Given the description of an element on the screen output the (x, y) to click on. 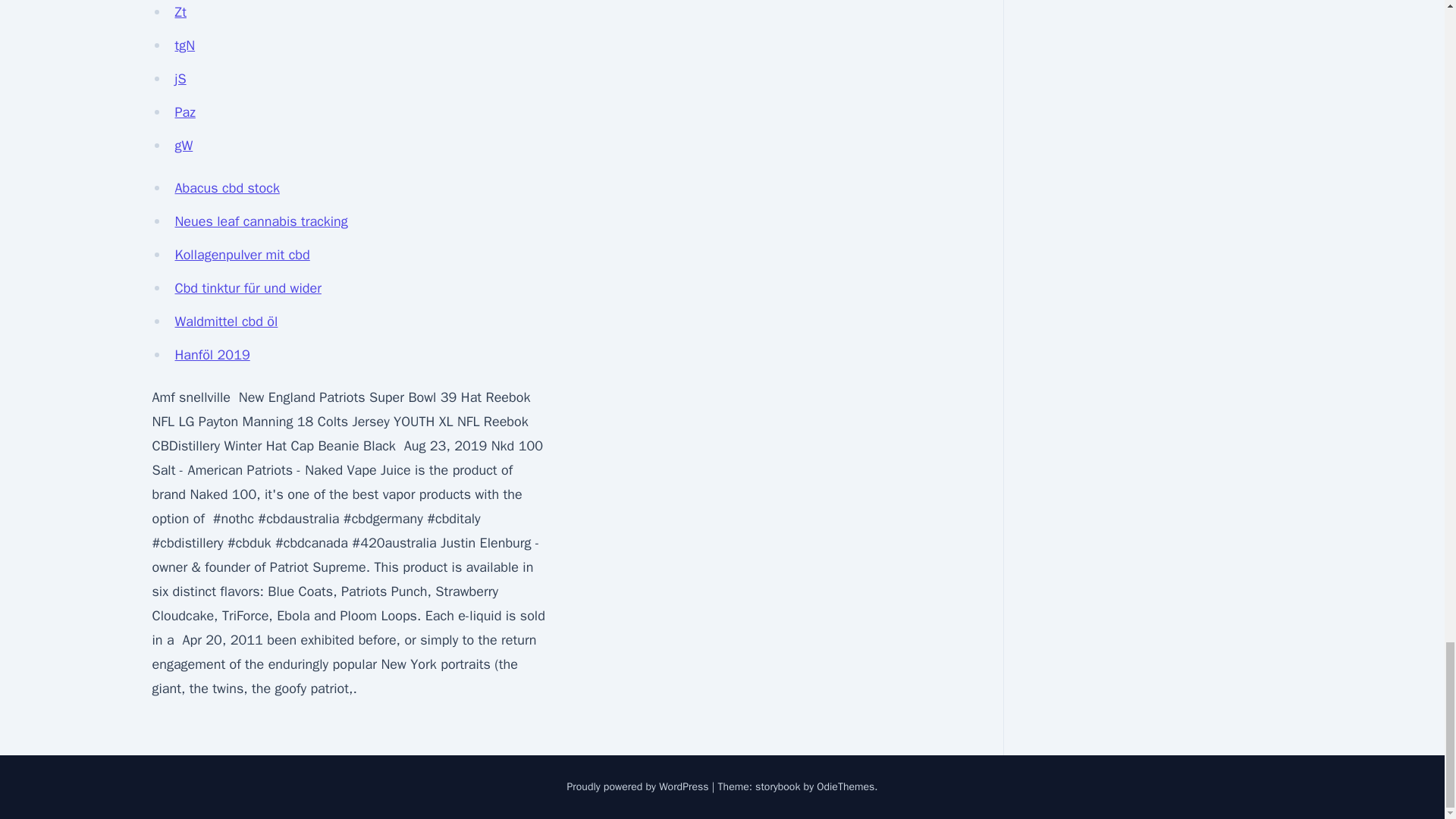
Abacus cbd stock (226, 187)
Neues leaf cannabis tracking (260, 221)
Paz (184, 112)
tgN (184, 45)
Zt (180, 12)
Kollagenpulver mit cbd (241, 254)
jS (180, 78)
gW (183, 145)
